Given the description of an element on the screen output the (x, y) to click on. 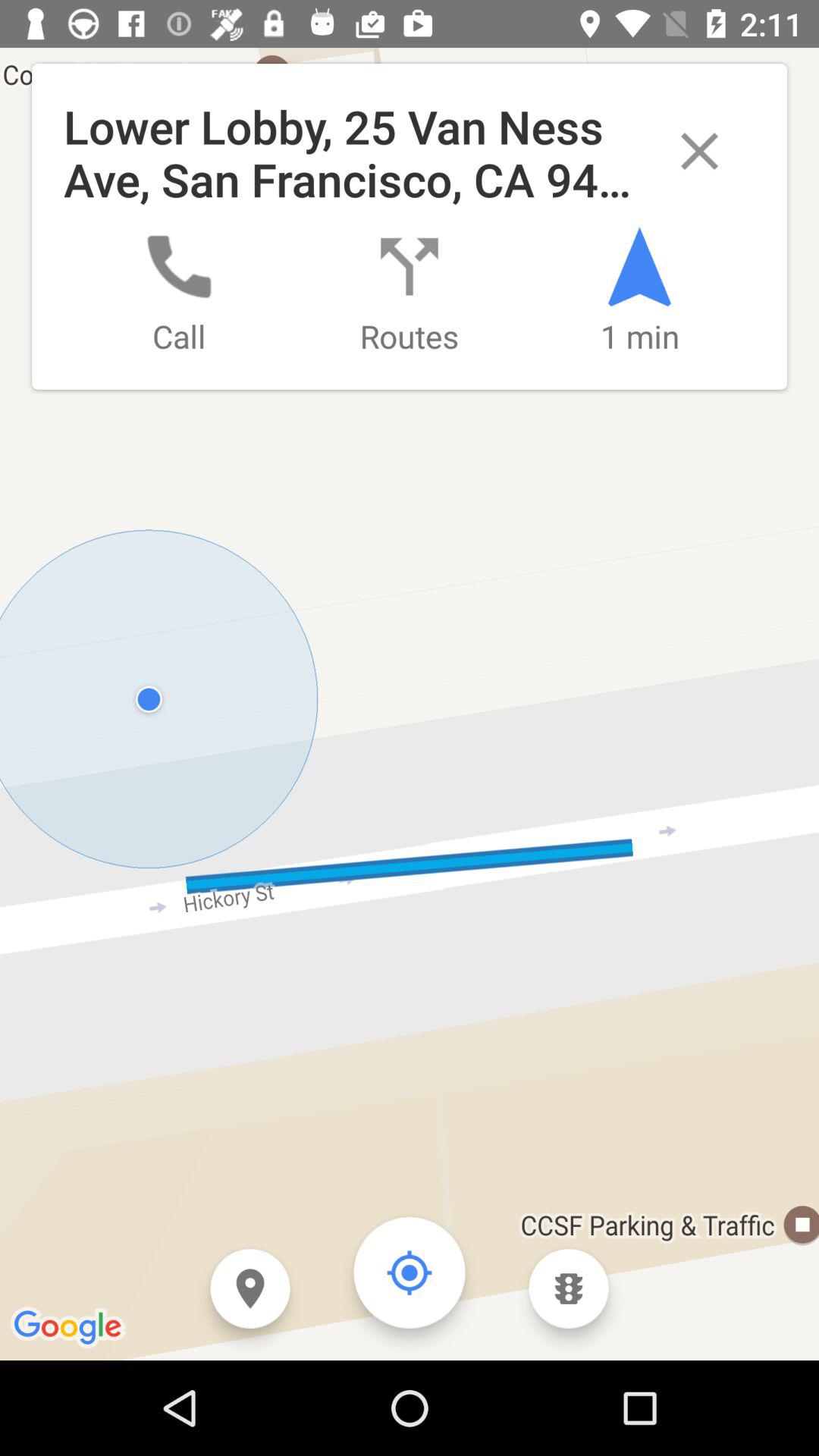
show destination (250, 1288)
